Given the description of an element on the screen output the (x, y) to click on. 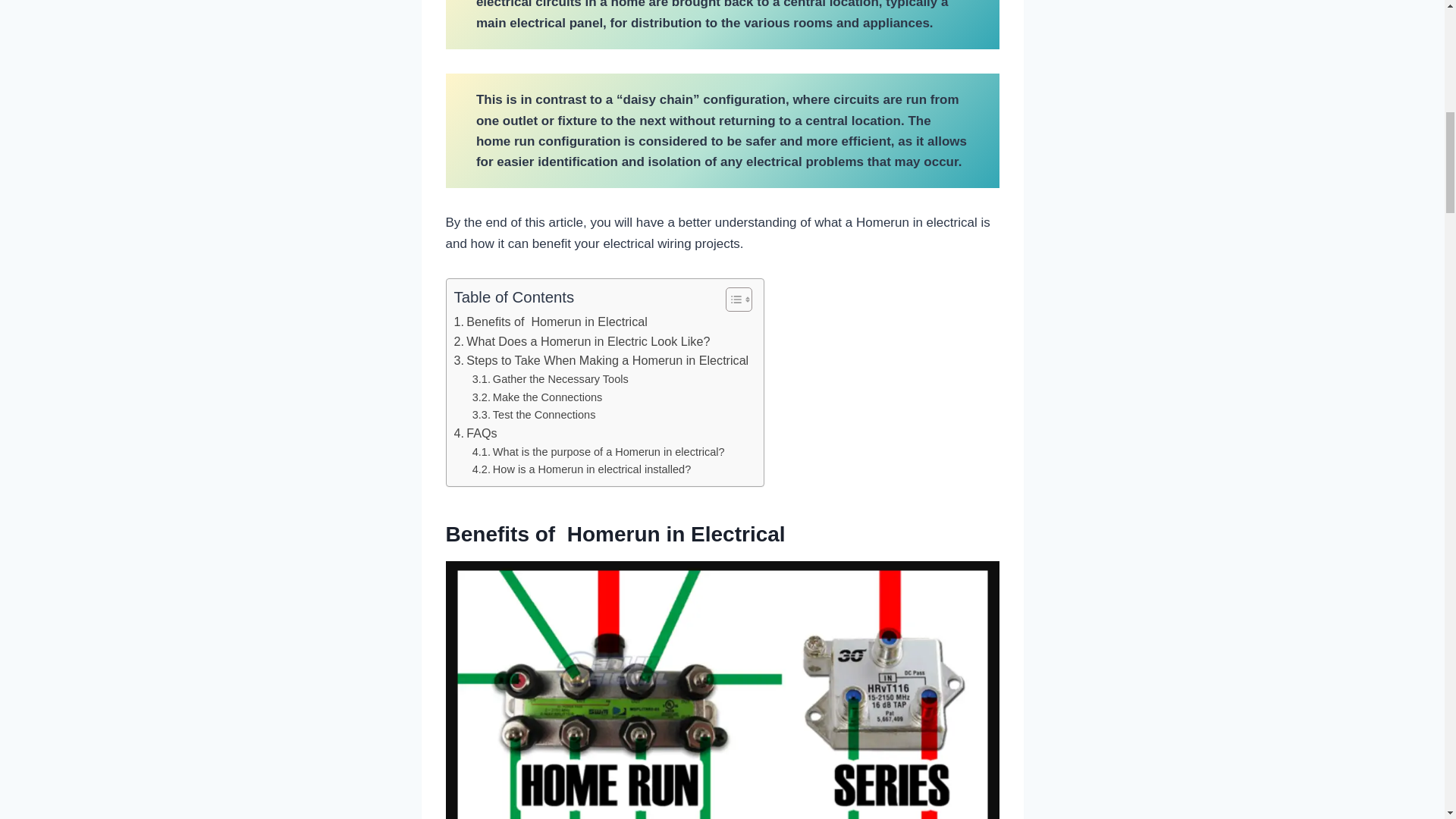
Make the Connections (536, 397)
Benefits of  Homerun in Electrical (549, 322)
Steps to Take When Making a Homerun in Electrical (600, 361)
Test the Connections (533, 415)
What is the purpose of a Homerun in electrical? (598, 452)
Test the Connections (533, 415)
Gather the Necessary Tools (549, 379)
What is the purpose of a Homerun in electrical? (598, 452)
FAQs (474, 433)
What Does a Homerun in Electric Look Like? (581, 342)
What Does a Homerun in Electric Look Like? (581, 342)
Steps to Take When Making a Homerun in Electrical (600, 361)
FAQs (474, 433)
How is a Homerun in electrical installed? (581, 469)
Gather the Necessary Tools (549, 379)
